Given the description of an element on the screen output the (x, y) to click on. 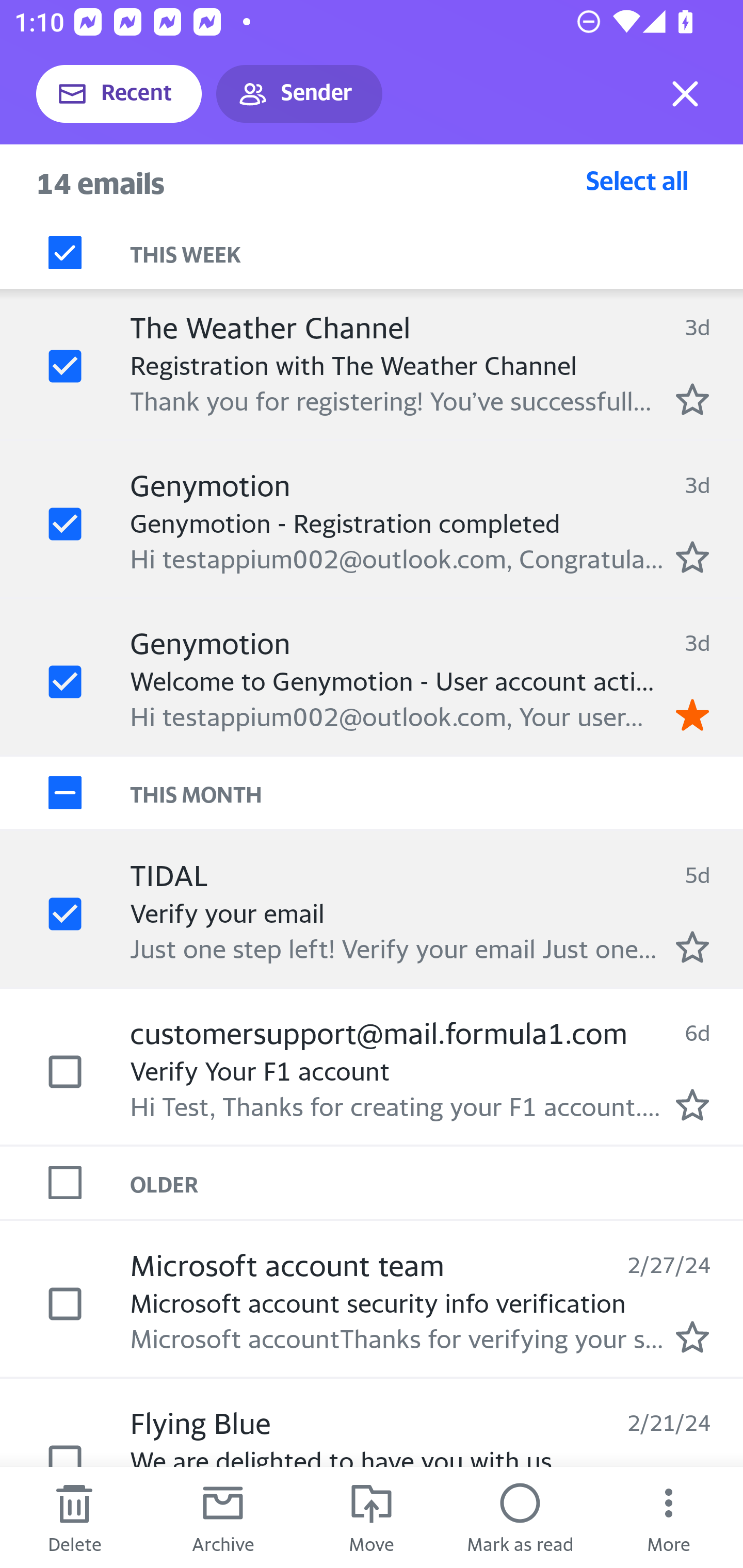
Sender (299, 93)
Exit selection mode (684, 93)
Select all (637, 180)
Mark as starred. (692, 399)
Mark as starred. (692, 557)
Remove star. (692, 714)
THIS MONTH (436, 792)
Mark as starred. (692, 946)
Mark as starred. (692, 1104)
OLDER (436, 1182)
Mark as starred. (692, 1336)
Delete (74, 1517)
Archive (222, 1517)
Move (371, 1517)
Mark as read (519, 1517)
More (668, 1517)
